Given the description of an element on the screen output the (x, y) to click on. 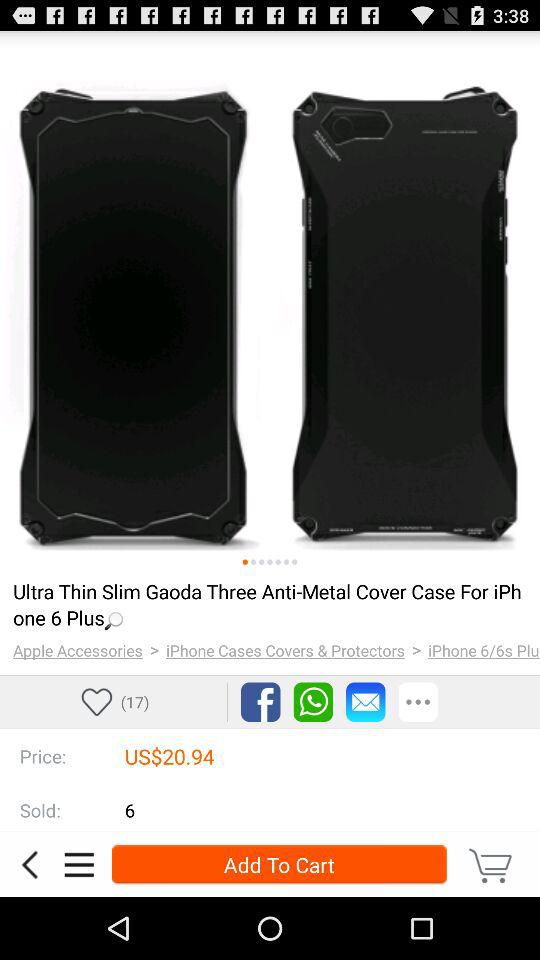
show the selected image (269, 561)
